Given the description of an element on the screen output the (x, y) to click on. 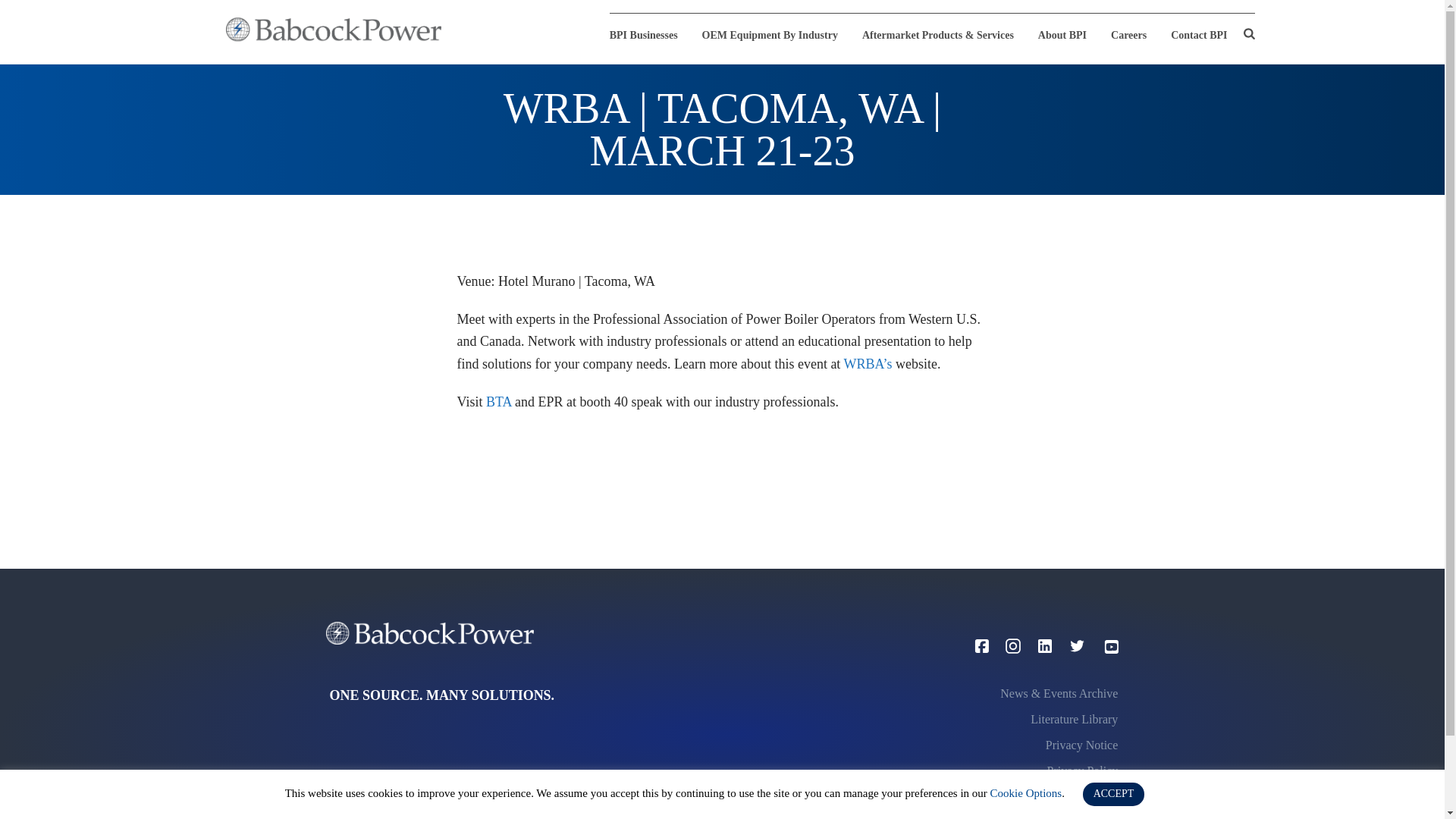
OEM Equipment By Industry (770, 35)
Careers (1128, 35)
BPI Businesses (650, 35)
About BPI (1062, 35)
OEM Equipment By Industry (770, 35)
Contact BPI (1198, 35)
One Source. Many Solutions. (333, 28)
BPI Businesses (650, 35)
